Given the description of an element on the screen output the (x, y) to click on. 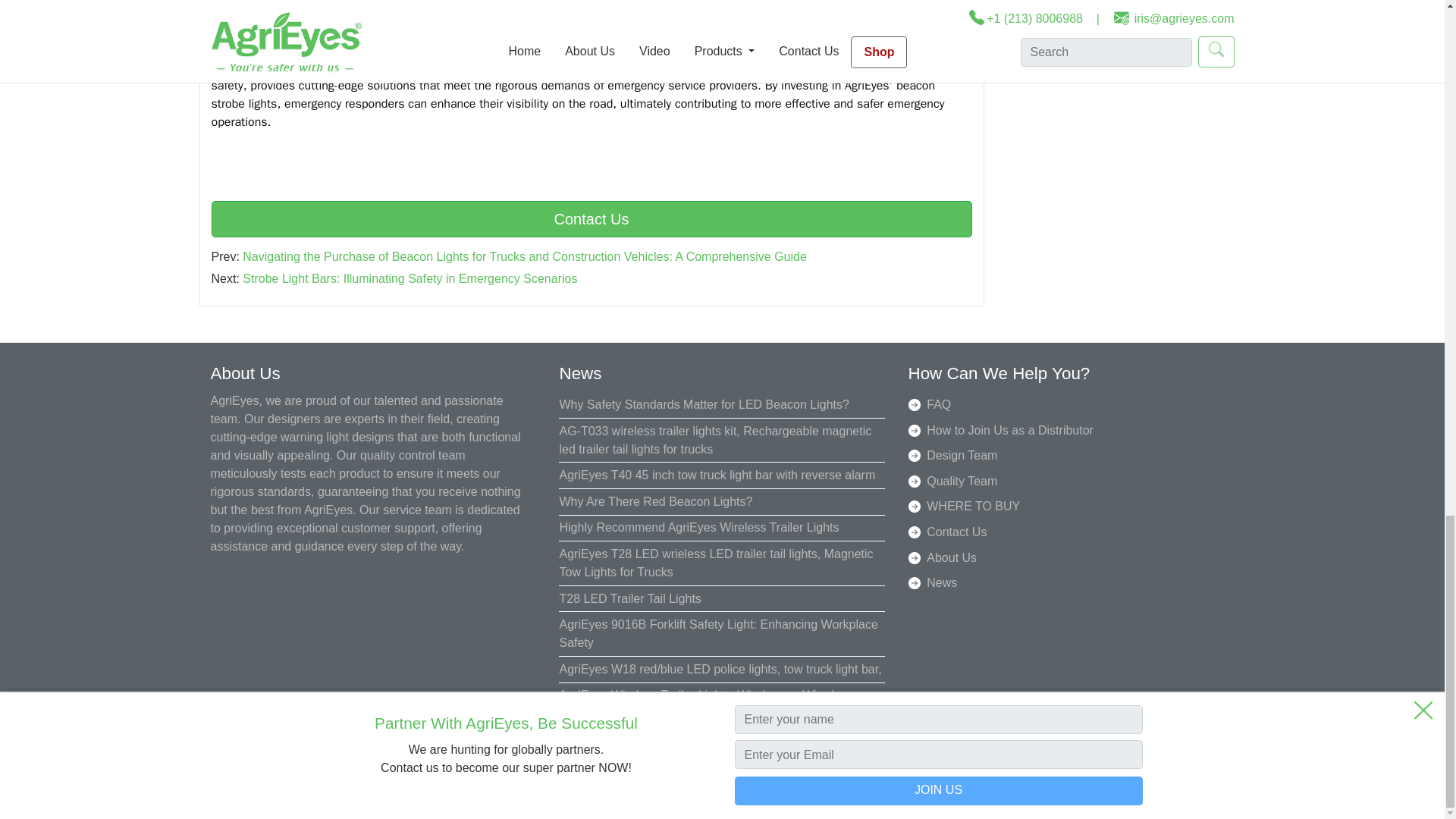
Why Safety Standards Matter for LED Beacon Lights? (703, 395)
AgriEyes T40 45 inch tow truck light bar with reverse alarm (717, 465)
c52fef082e9082b7193ad8e073f71432 (590, 22)
beacon strobe lights (264, 67)
Contact Us (591, 218)
Why Are There Red Beacon Lights? (655, 491)
